Given the description of an element on the screen output the (x, y) to click on. 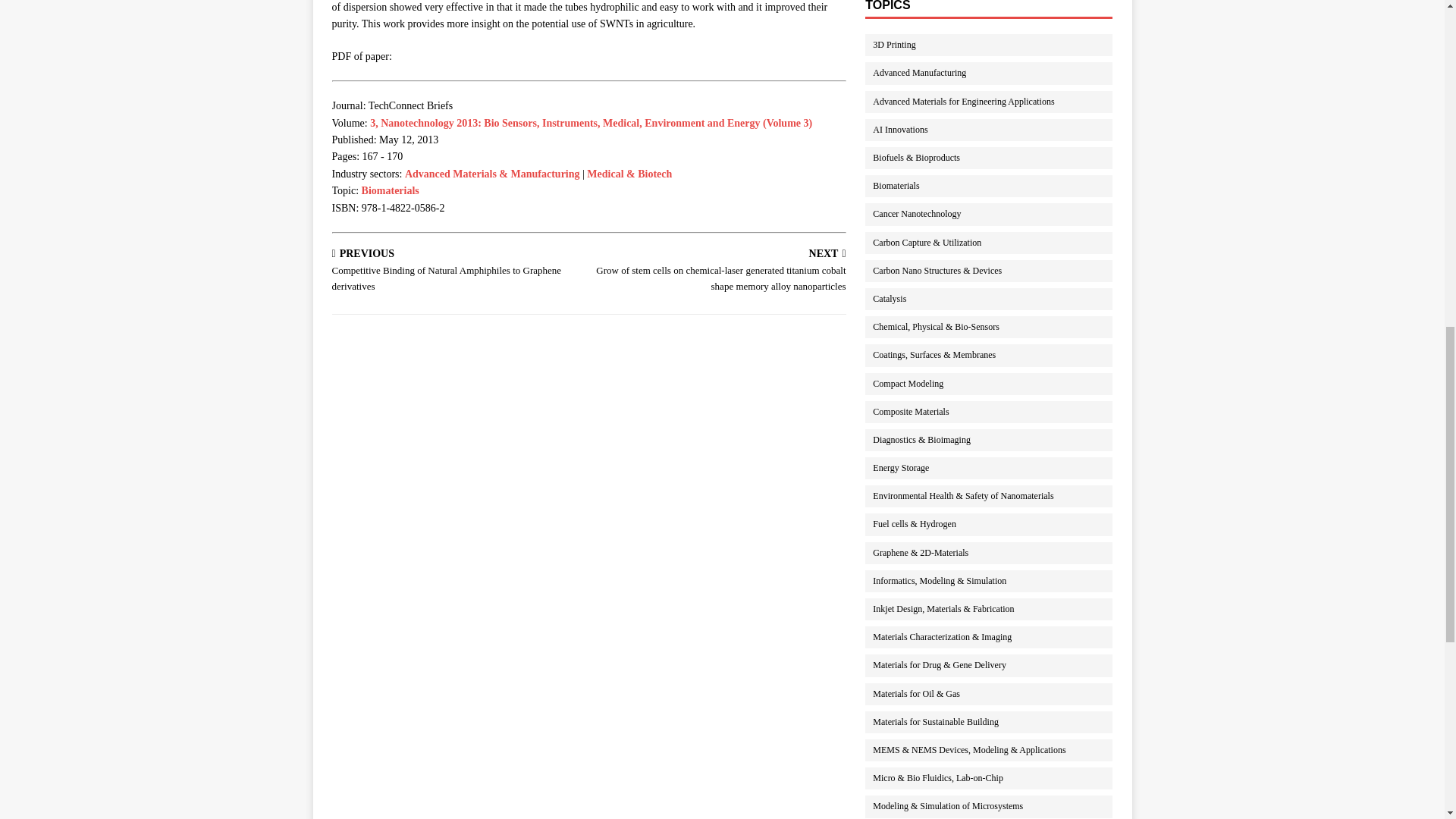
AI Innovations (995, 129)
3D Printing (995, 45)
Cancer Nanotechnology (995, 214)
Advanced Materials for Engineering Applications (995, 101)
Biomaterials (390, 190)
Advanced Manufacturing (995, 73)
Biomaterials (995, 186)
Biomaterials (390, 190)
